Given the description of an element on the screen output the (x, y) to click on. 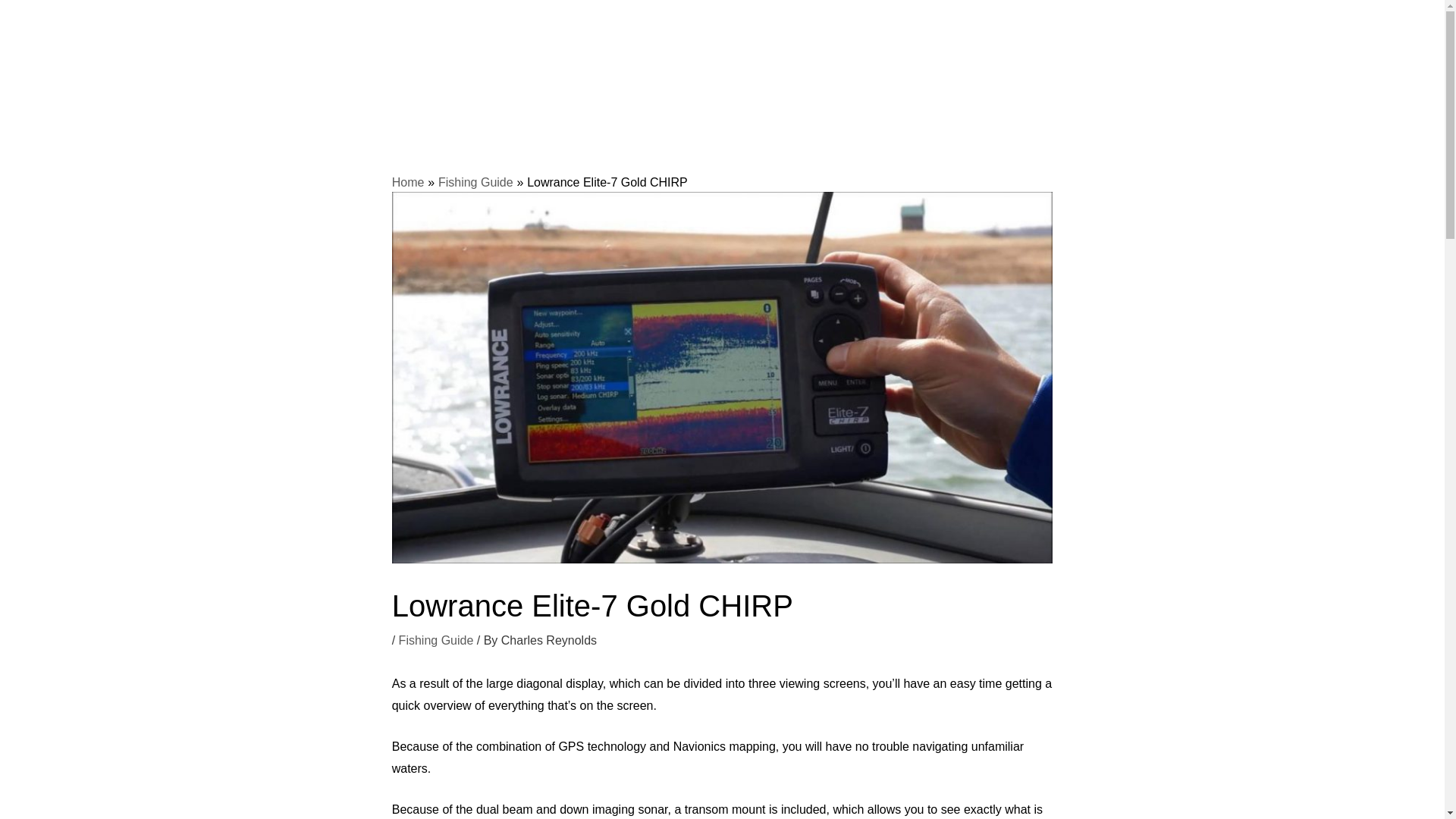
Fishing Guide (436, 640)
Home (408, 182)
Fishing Guide (475, 182)
View all posts by Charles Reynolds (548, 640)
Charles Reynolds (548, 640)
